Given the description of an element on the screen output the (x, y) to click on. 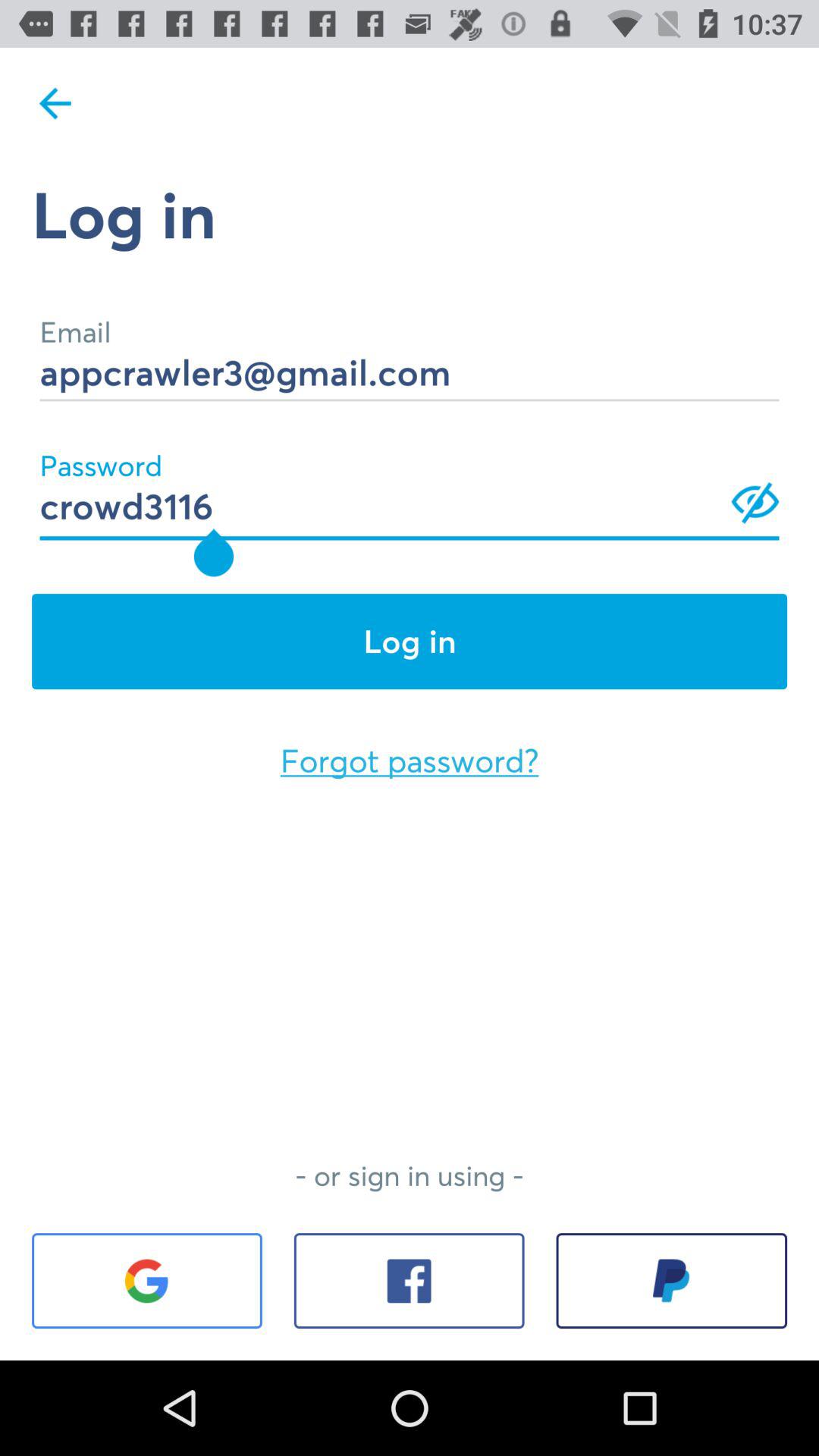
scroll to crowd3116 icon (409, 484)
